Given the description of an element on the screen output the (x, y) to click on. 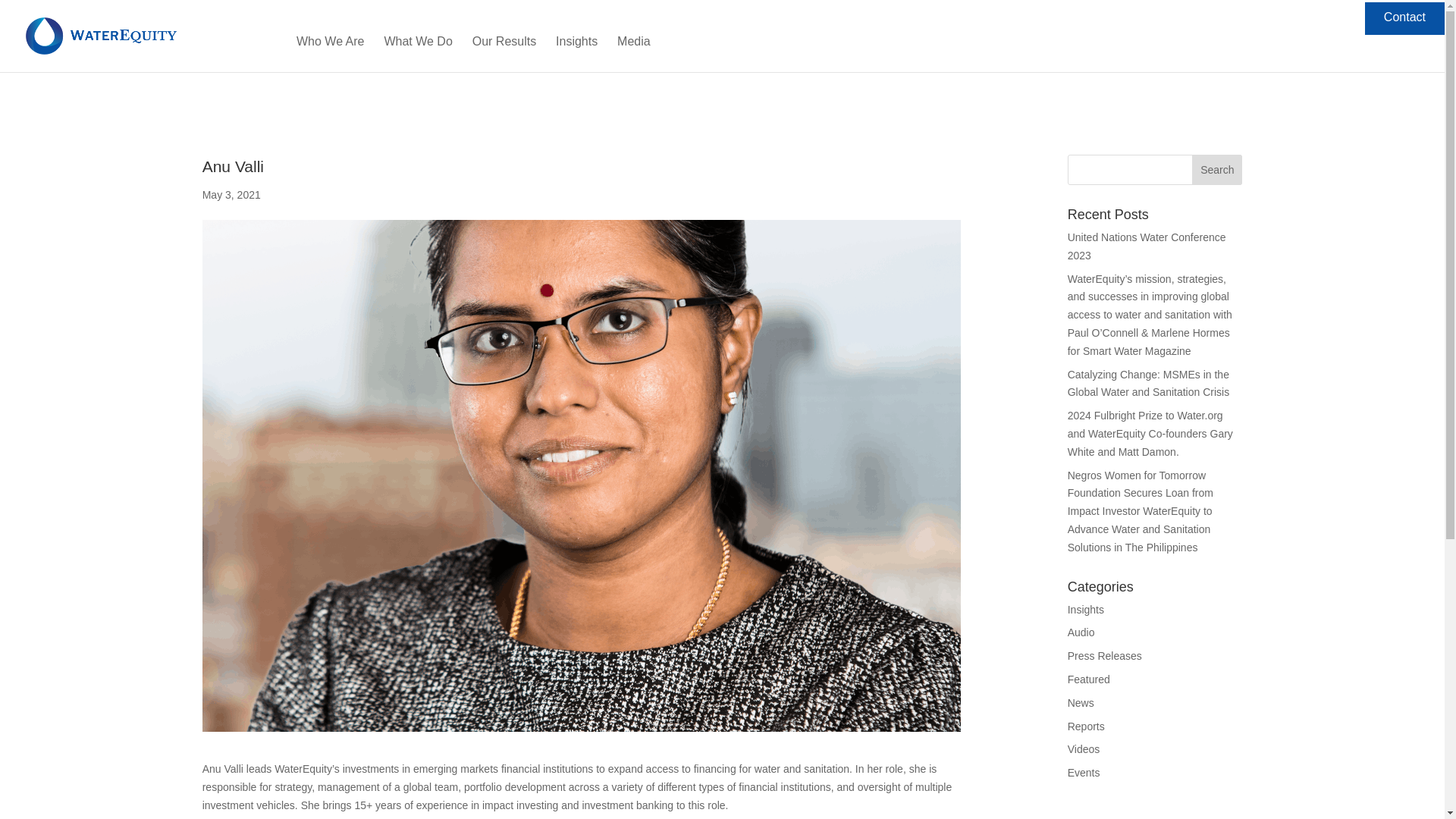
Media (633, 54)
What We Do (417, 54)
Investor Login (1304, 18)
Who We Are (331, 54)
Our Results (503, 54)
United Nations Water Conference 2023 (1146, 245)
Search (1216, 169)
Search (1216, 169)
Insights (576, 54)
